Given the description of an element on the screen output the (x, y) to click on. 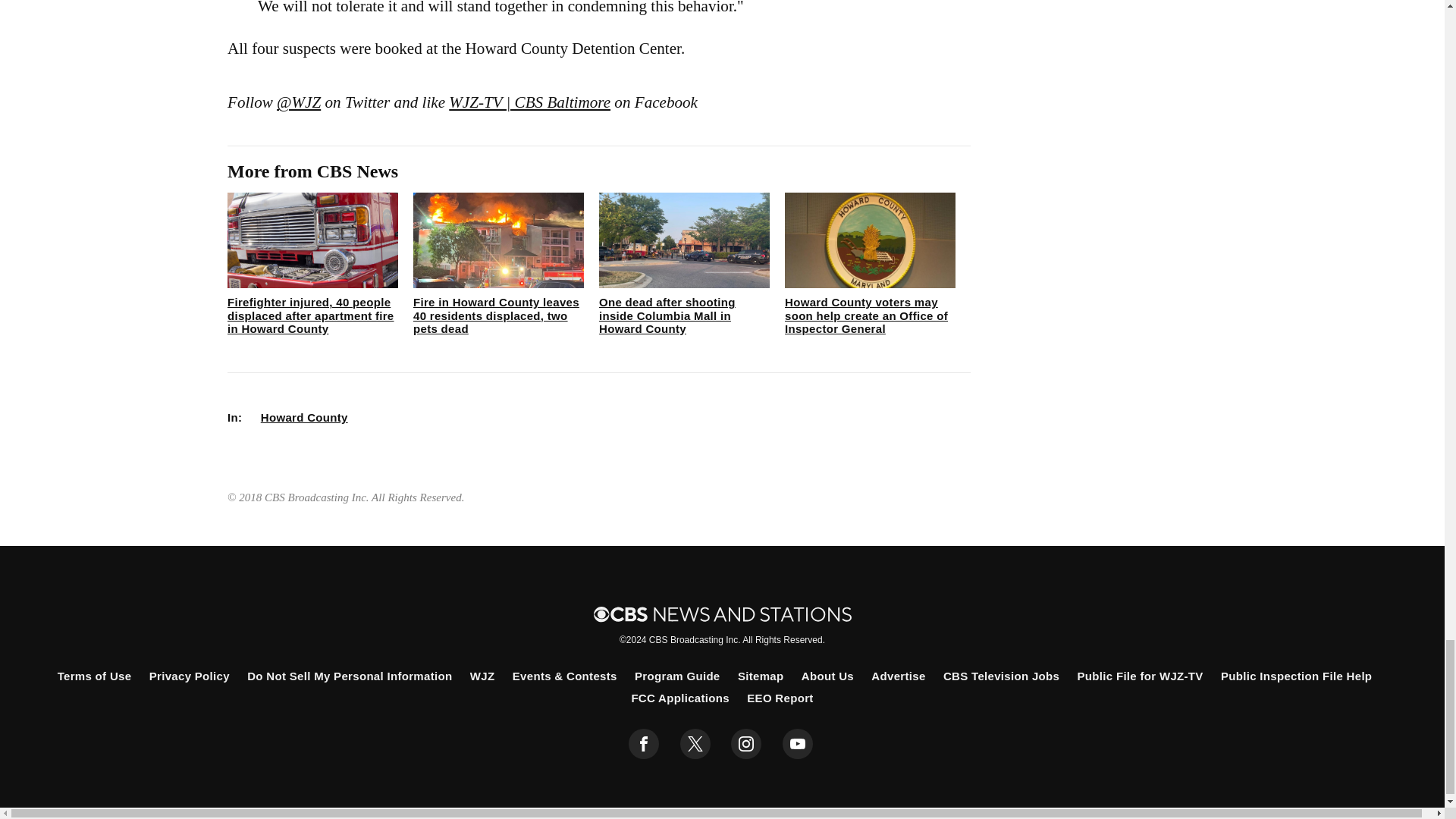
facebook (643, 743)
instagram (745, 743)
youtube (797, 743)
twitter (694, 743)
